Given the description of an element on the screen output the (x, y) to click on. 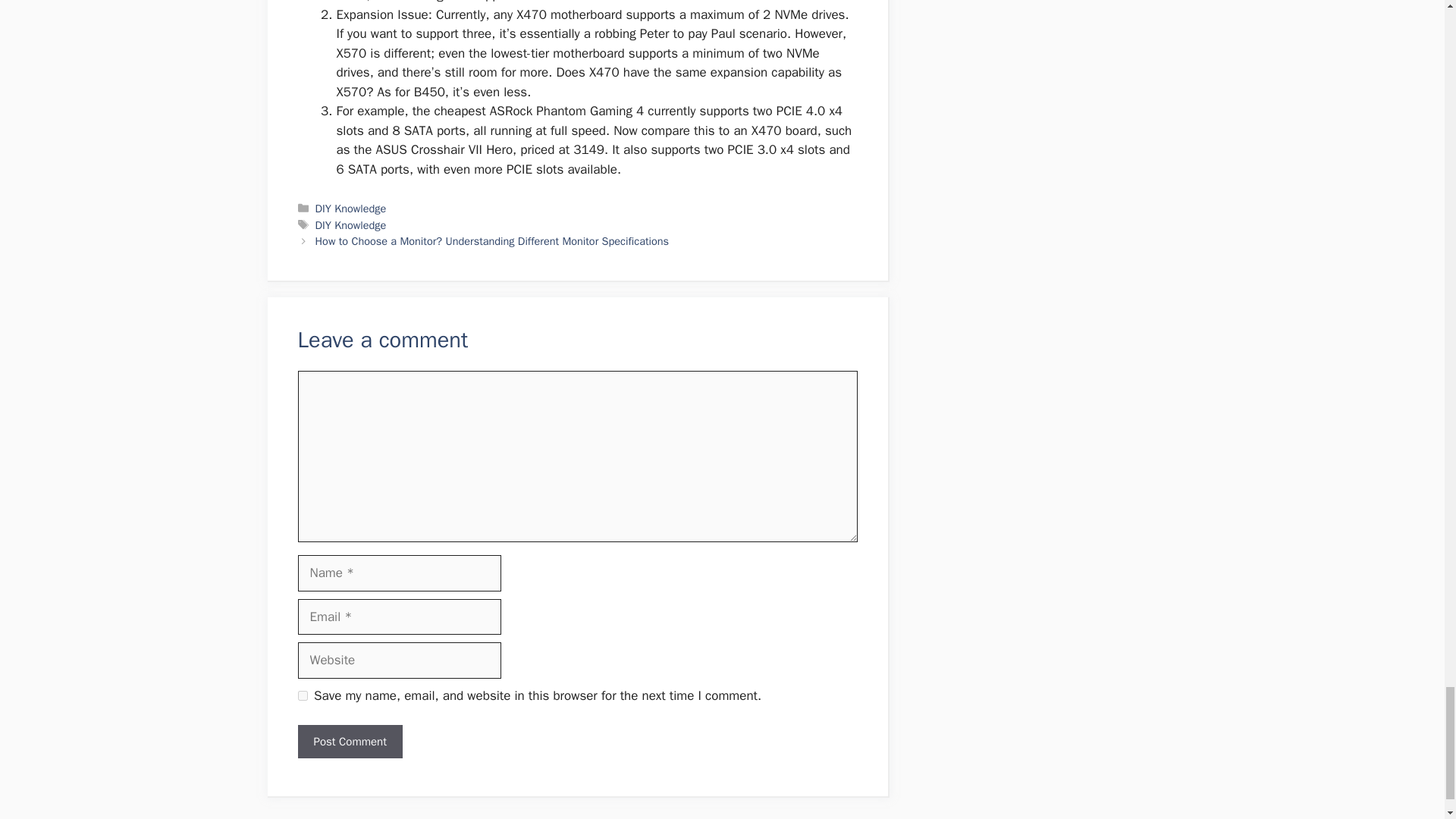
DIY Knowledge (351, 224)
Post Comment (349, 741)
yes (302, 696)
DIY Knowledge (351, 208)
Post Comment (349, 741)
